Given the description of an element on the screen output the (x, y) to click on. 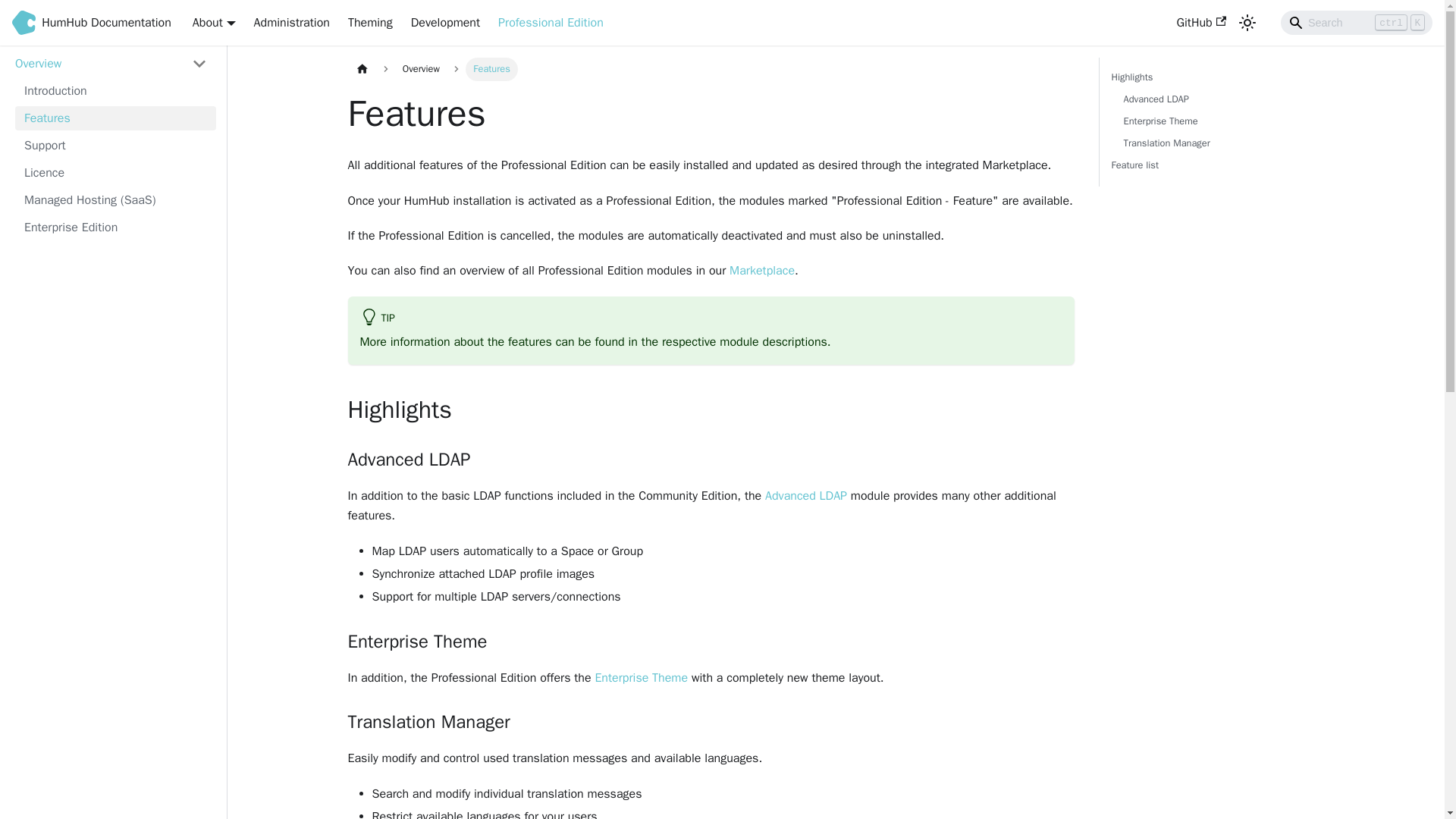
Administration (291, 22)
Theming (370, 22)
Features (114, 118)
Enterprise Theme (640, 677)
About (213, 22)
Introduction (114, 90)
GitHub (1200, 22)
Overview (110, 63)
Development (445, 22)
Advanced LDAP (806, 495)
Support (114, 145)
Marketplace (761, 270)
Enterprise Edition (114, 227)
HumHub Documentation (113, 22)
